Given the description of an element on the screen output the (x, y) to click on. 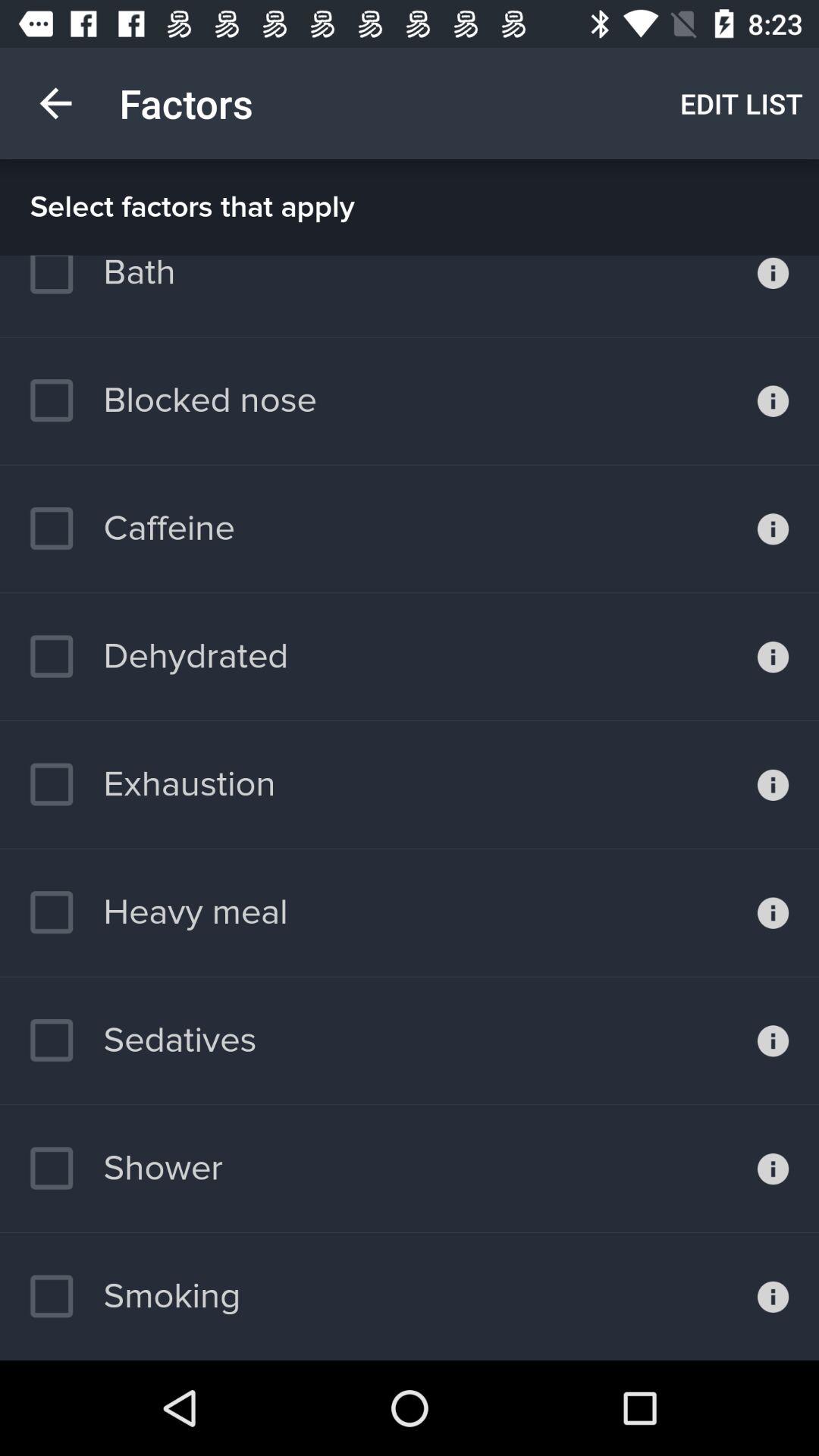
click the edit list item (741, 103)
